Given the description of an element on the screen output the (x, y) to click on. 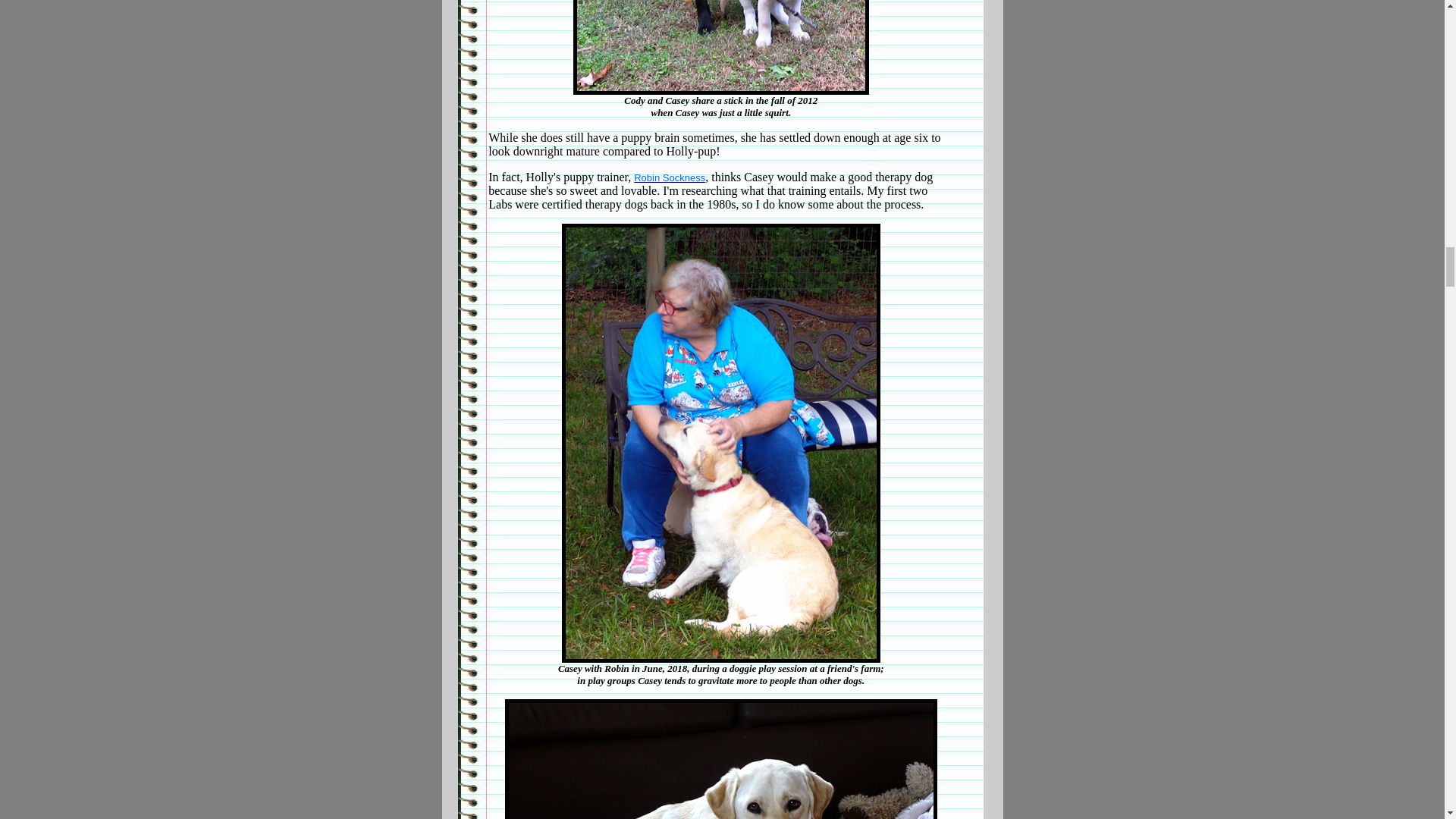
Robin Sockness (668, 177)
